Given the description of an element on the screen output the (x, y) to click on. 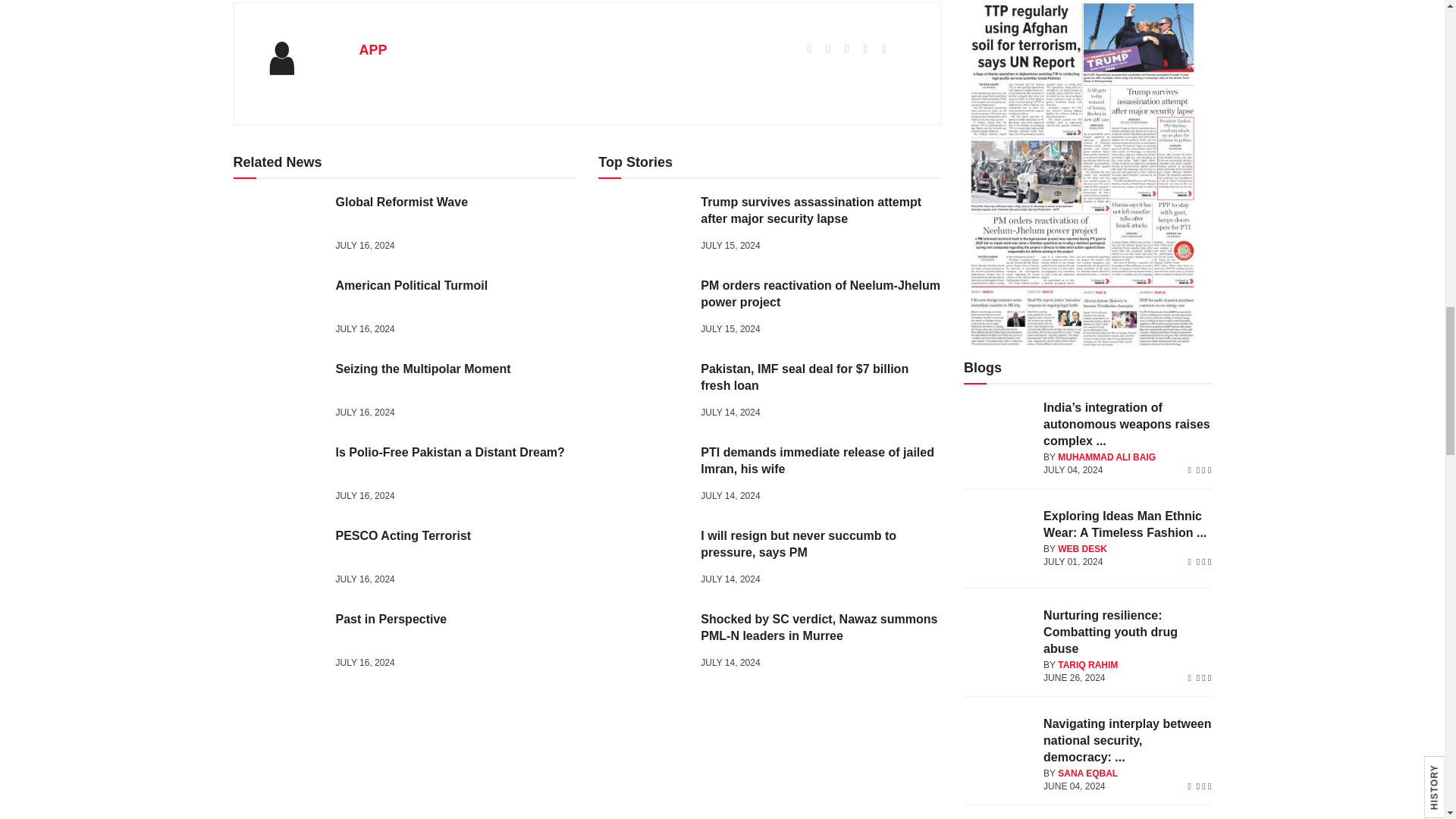
I will resign but never succumb to pressure, says PM (643, 559)
American Political Turmoil (278, 309)
Is Polio-Free Pakistan a Distant Dream? (278, 476)
Shocked by SC verdict, Nawaz summons PML-N leaders in Murree (643, 642)
Past in Perspective (278, 642)
PM orders reactivation of Neelum-Jhelum power project (643, 309)
Global Reformist Wave (278, 226)
Seizing the Multipolar Moment (278, 393)
PTI demands immediate release of jailed Imran, his wife (643, 476)
PESCO Acting Terrorist (278, 559)
